Given the description of an element on the screen output the (x, y) to click on. 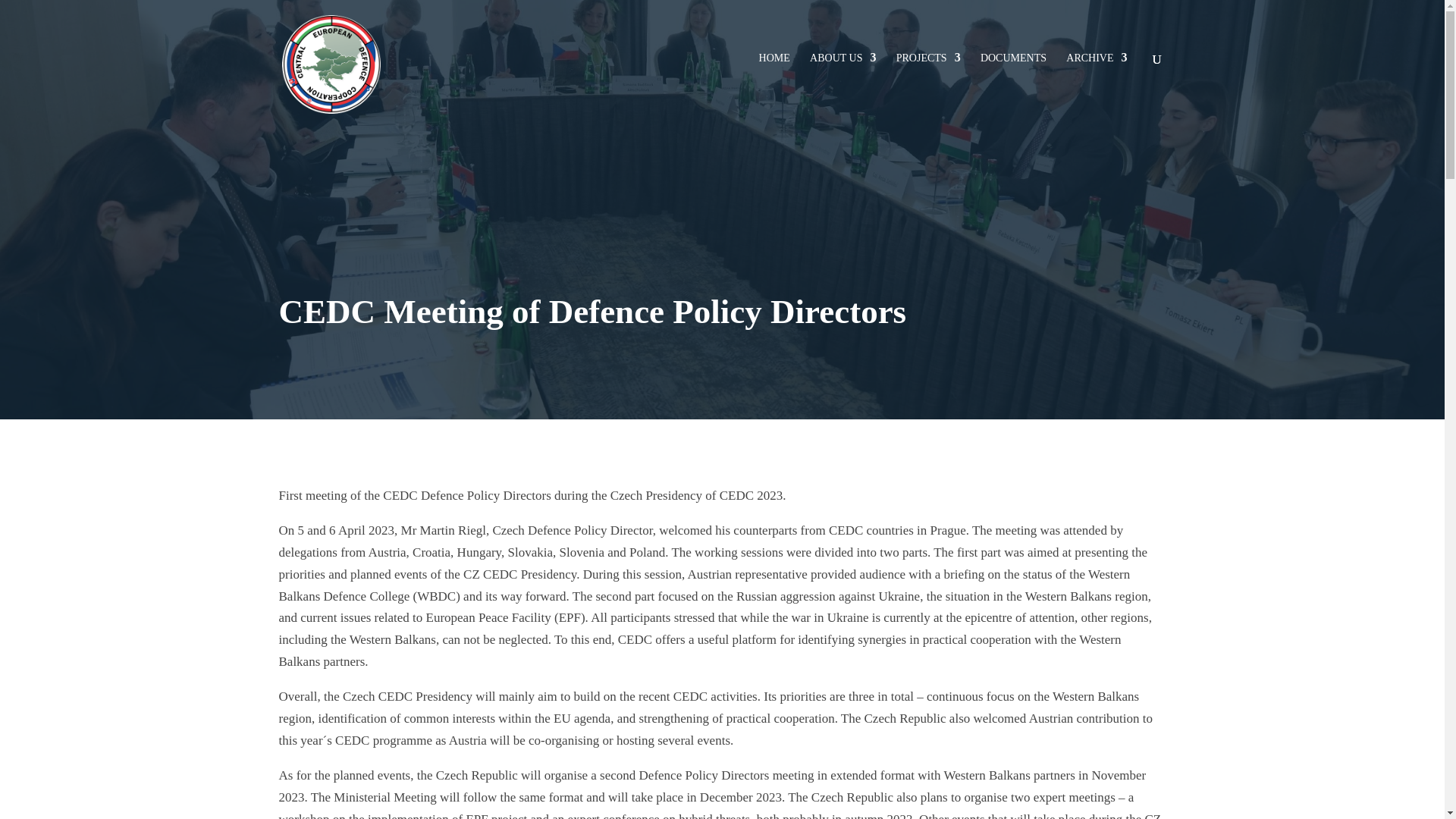
DOCUMENTS (1012, 58)
PROJECTS (928, 58)
ARCHIVE (1095, 58)
ABOUT US (842, 58)
HOME (774, 58)
